Given the description of an element on the screen output the (x, y) to click on. 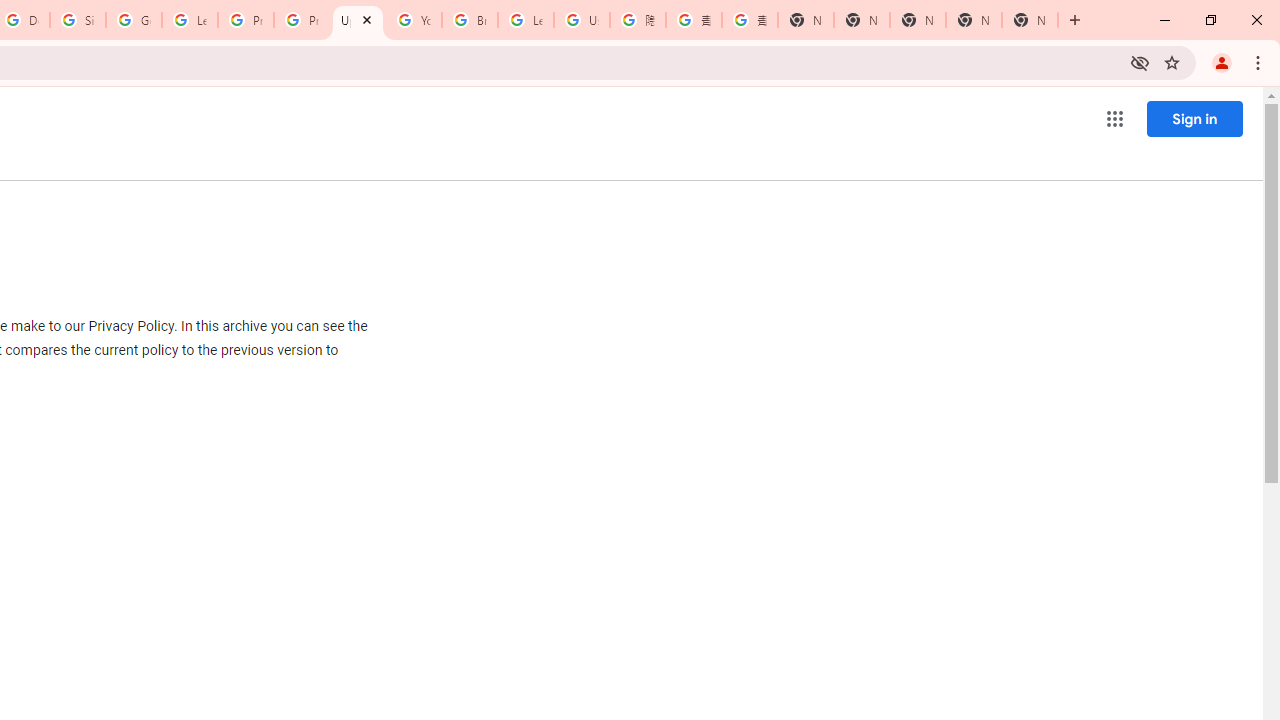
New Tab (806, 20)
New Tab (1030, 20)
YouTube (413, 20)
Sign in - Google Accounts (77, 20)
